Given the description of an element on the screen output the (x, y) to click on. 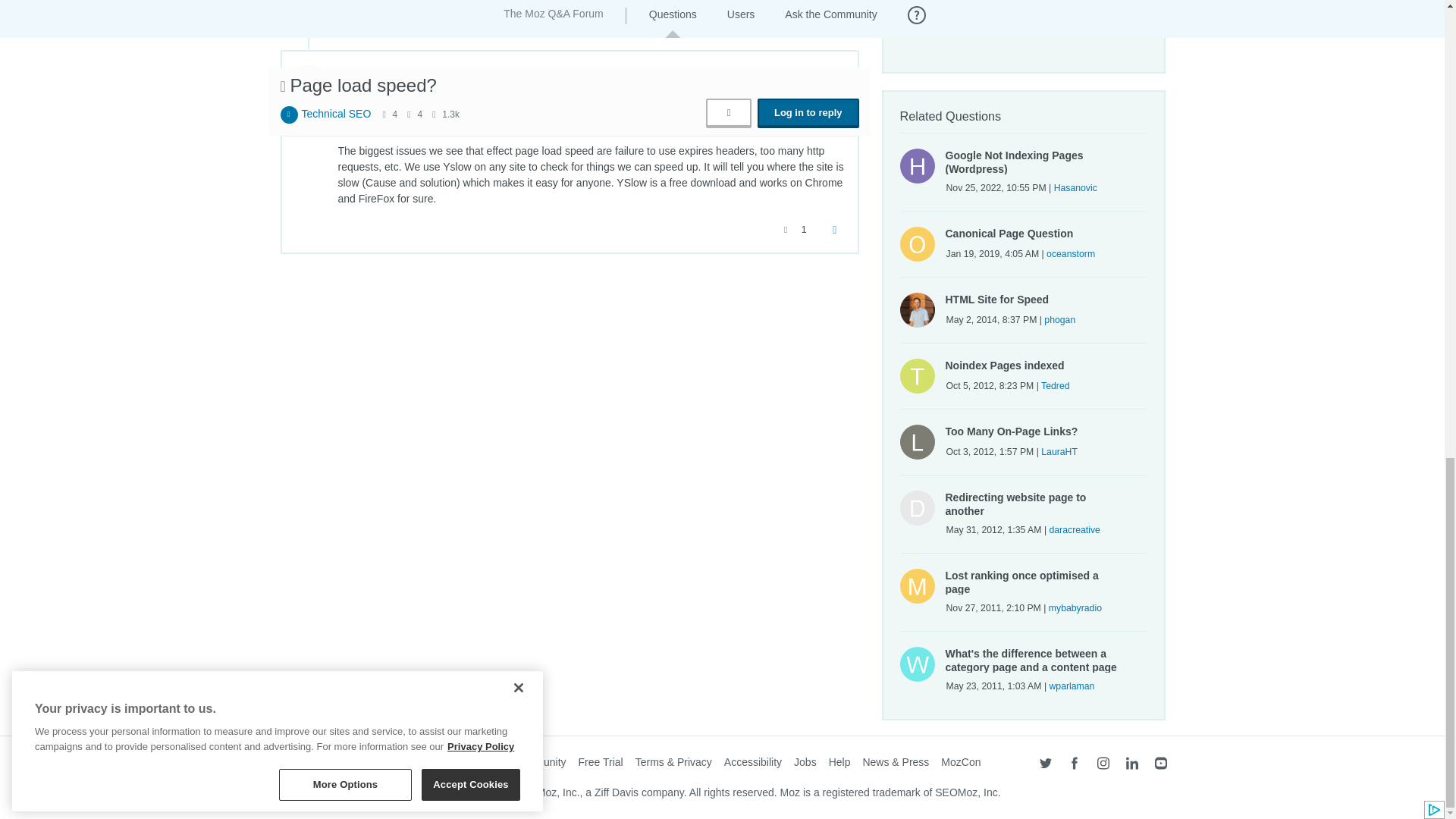
Moz logo (303, 765)
